Given the description of an element on the screen output the (x, y) to click on. 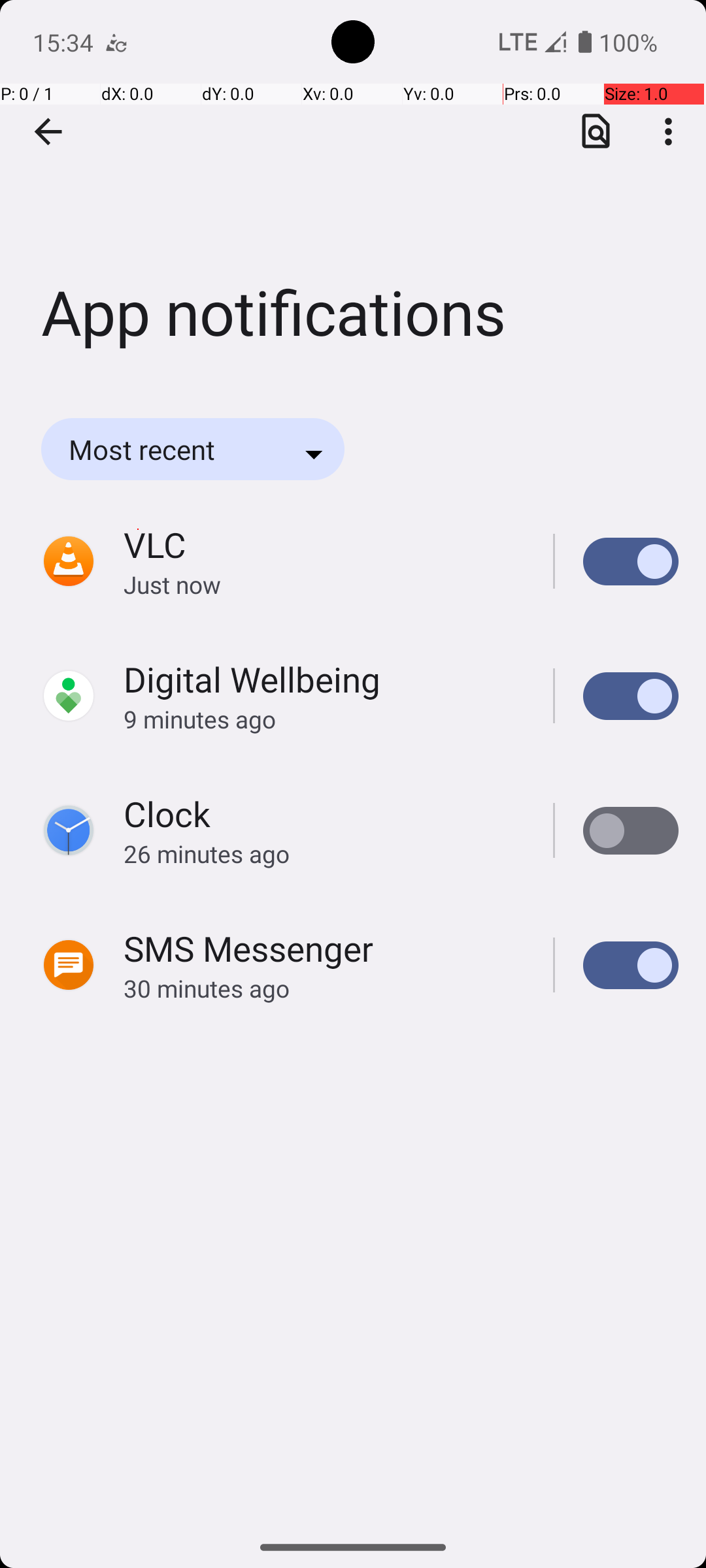
App notifications Element type: android.widget.FrameLayout (353, 195)
Most recent Element type: android.widget.TextView (159, 448)
Just now Element type: android.widget.TextView (324, 584)
Digital Wellbeing Element type: android.widget.TextView (252, 678)
9 minutes ago Element type: android.widget.TextView (324, 718)
26 minutes ago Element type: android.widget.TextView (324, 853)
30 minutes ago Element type: android.widget.TextView (324, 987)
